Given the description of an element on the screen output the (x, y) to click on. 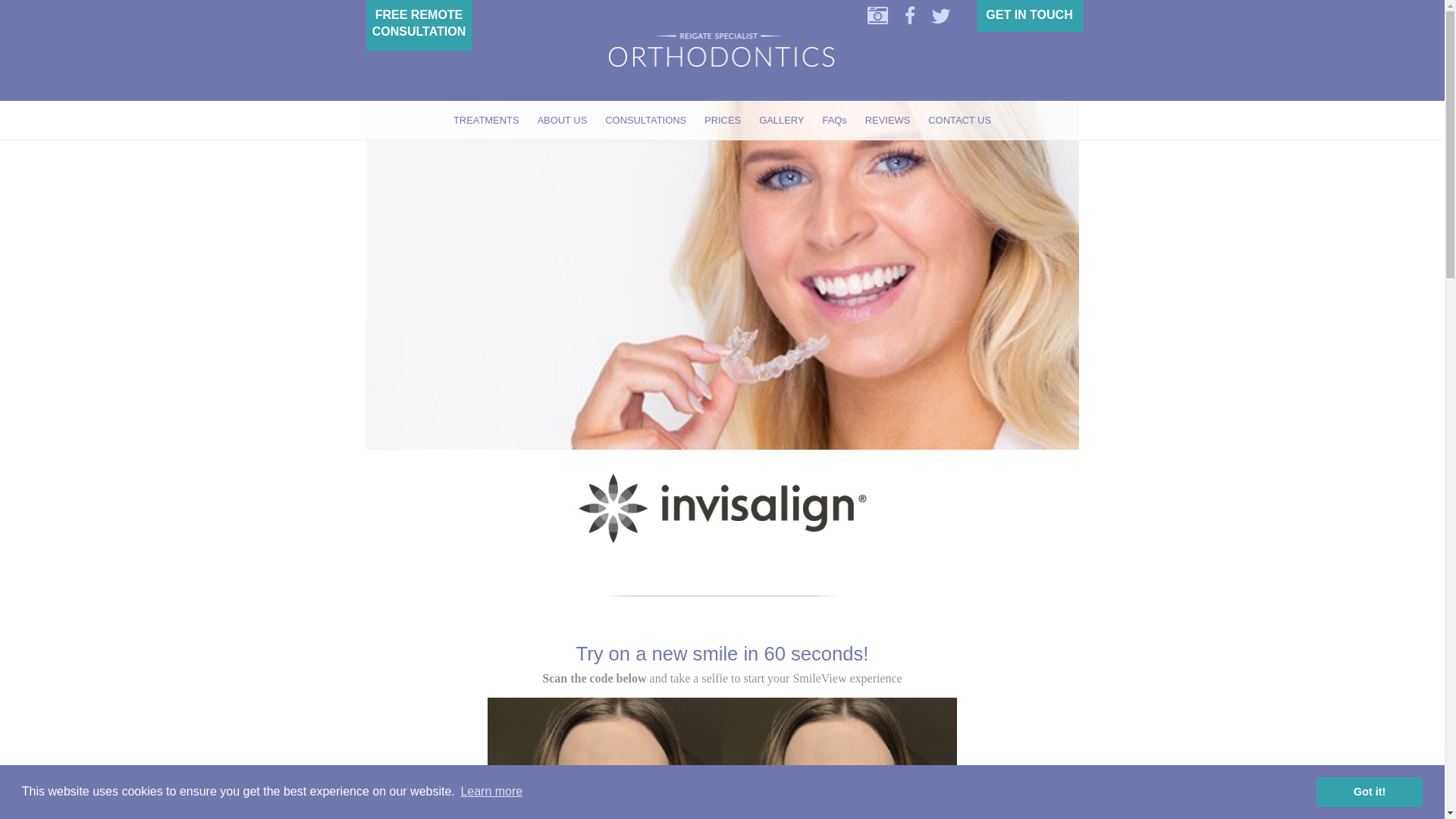
REVIEWS (888, 120)
ABOUT US (562, 120)
CONSULTATIONS (645, 120)
Learn more (491, 791)
ENQUIRY (1028, 14)
FAQs (834, 120)
CONTACT US (959, 120)
FREE REMOTE CONSULTATION (418, 22)
PRICES (722, 120)
GALLERY (780, 120)
